Given the description of an element on the screen output the (x, y) to click on. 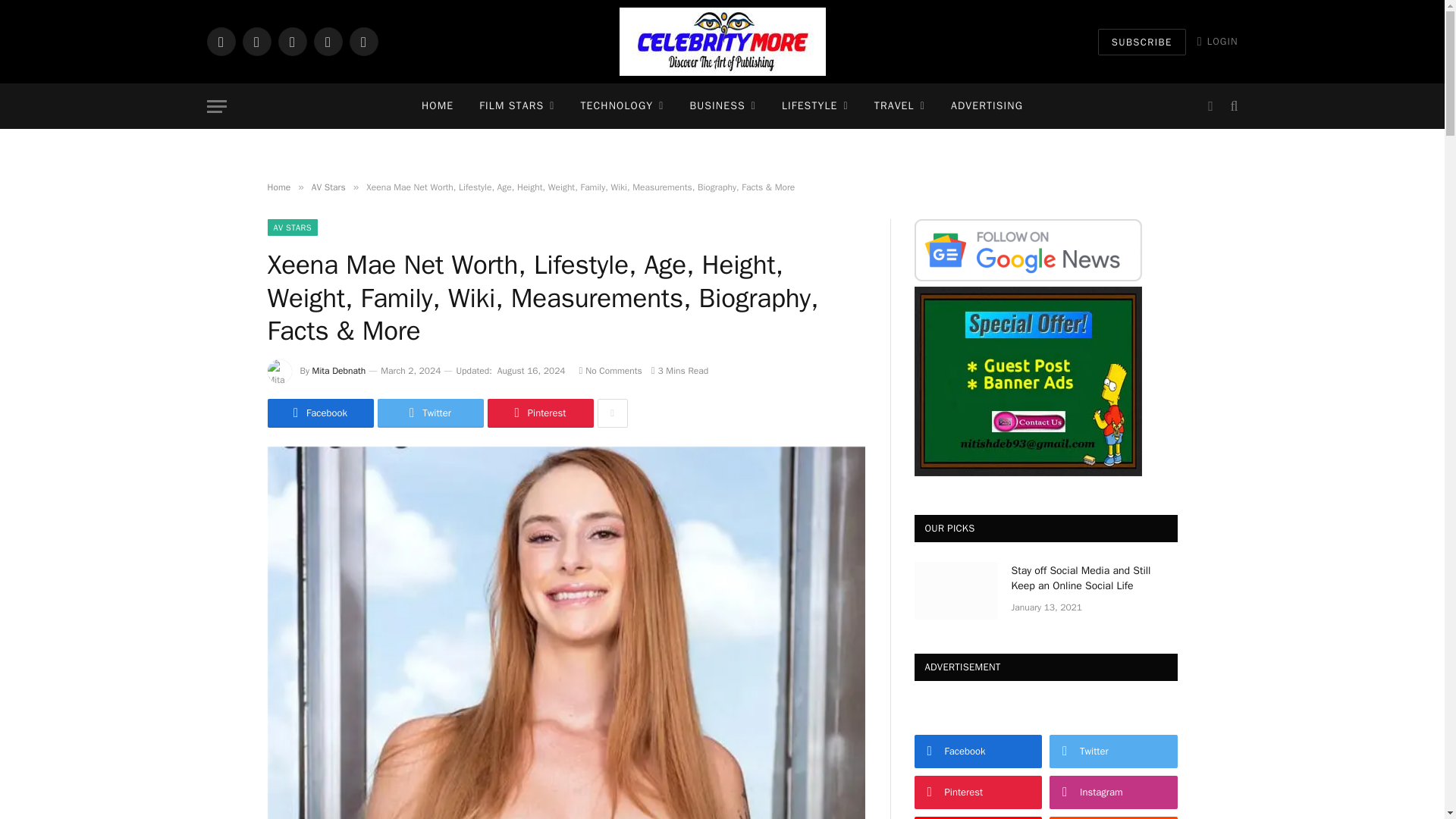
FILM STARS (516, 105)
HOME (437, 105)
YouTube (363, 41)
LOGIN (1217, 41)
Pinterest (328, 41)
TECHNOLOGY (622, 105)
Instagram (291, 41)
SUBSCRIBE (1141, 41)
Facebook (220, 41)
BUSINESS (722, 105)
